Given the description of an element on the screen output the (x, y) to click on. 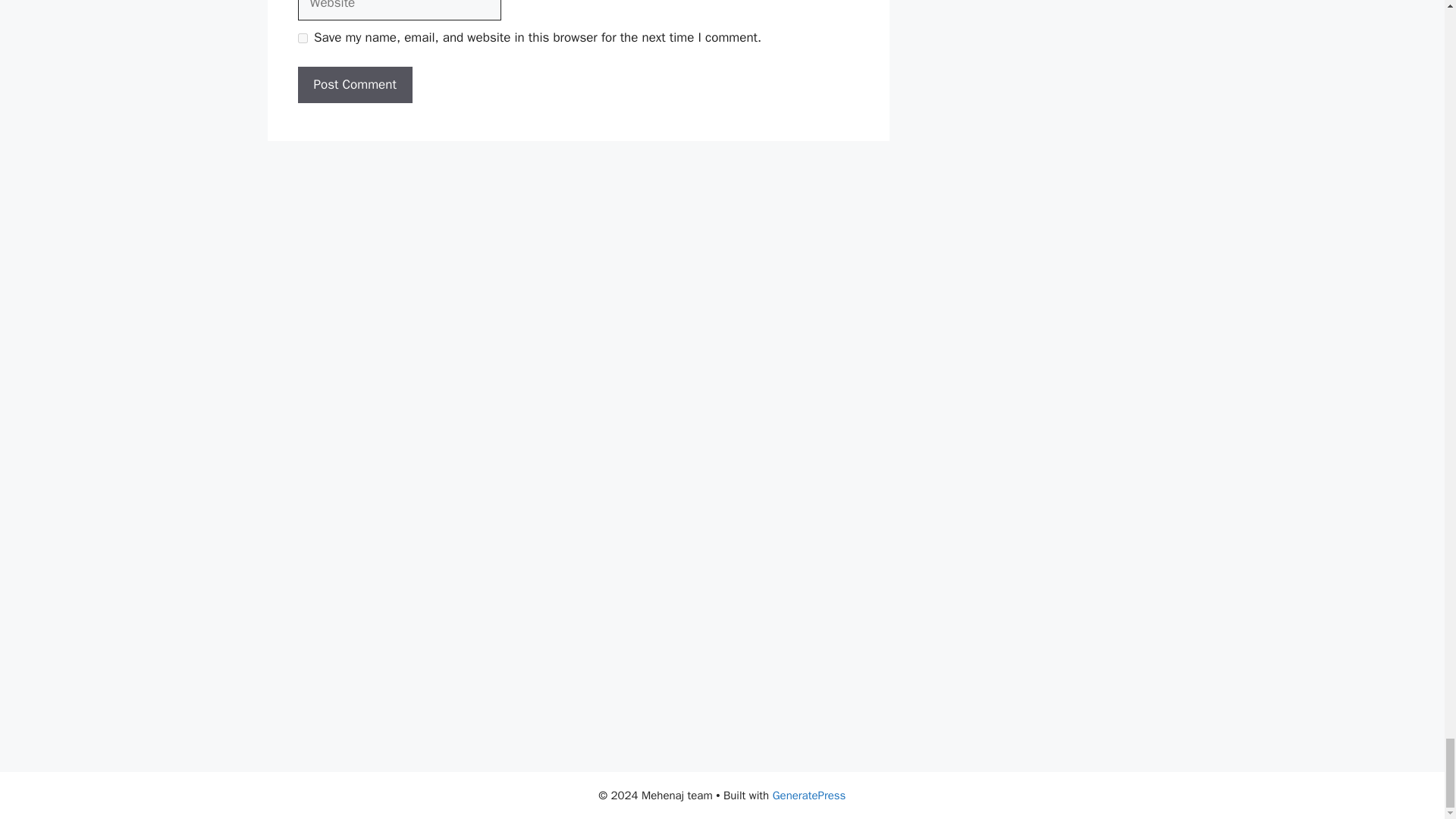
yes (302, 38)
Post Comment (354, 84)
GeneratePress (809, 795)
Post Comment (354, 84)
